Given the description of an element on the screen output the (x, y) to click on. 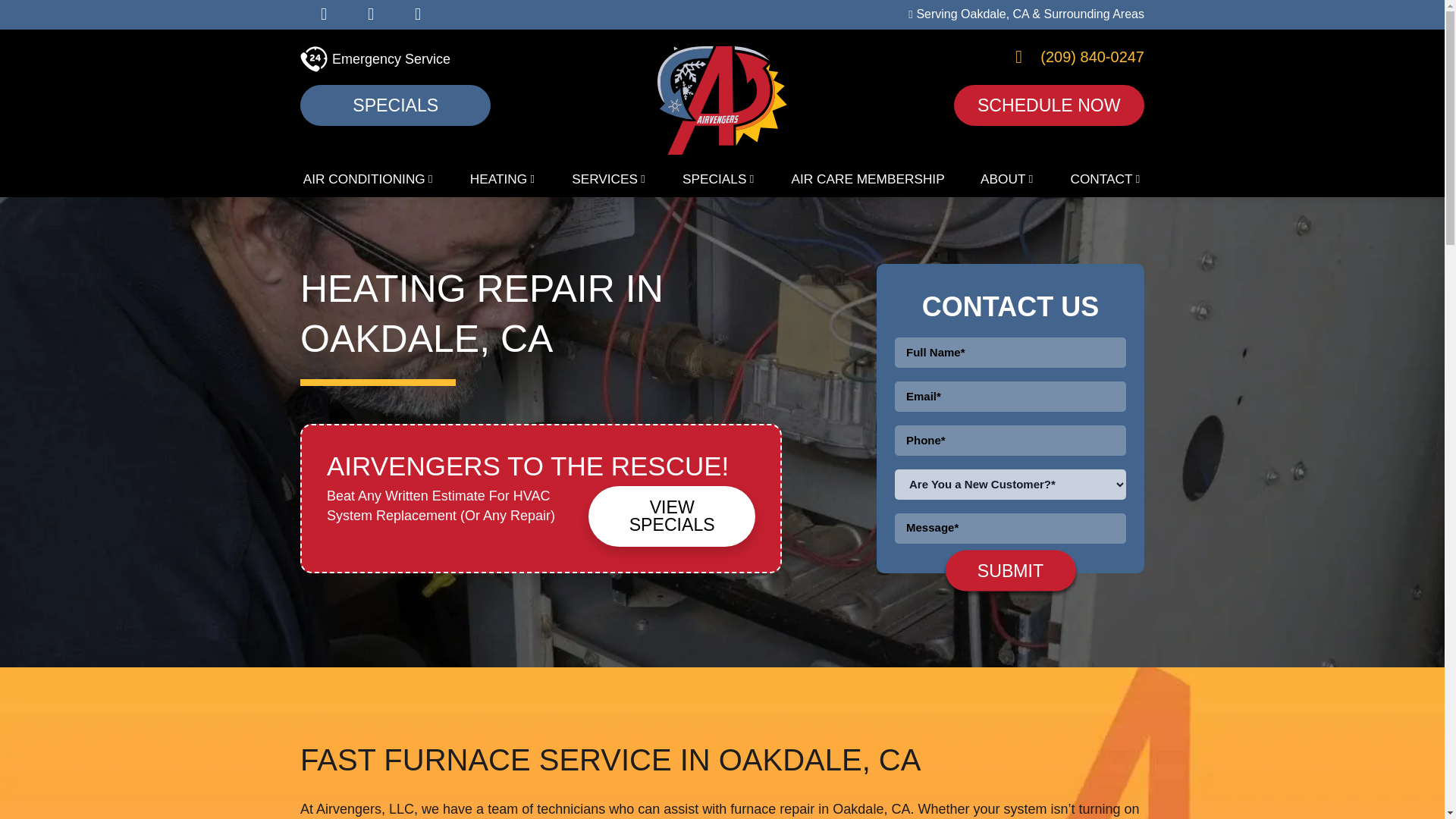
Airvengers, LLC (722, 99)
AIR CARE MEMBERSHIP (867, 177)
SPECIALS (718, 177)
Submit (1009, 570)
HEATING (502, 177)
SPECIALS (394, 105)
SCHEDULE NOW (1048, 105)
ABOUT (1008, 177)
SERVICES (609, 177)
AIR CONDITIONING (367, 177)
CONTACT (1105, 177)
VIEW SPECIALS (671, 516)
